Given the description of an element on the screen output the (x, y) to click on. 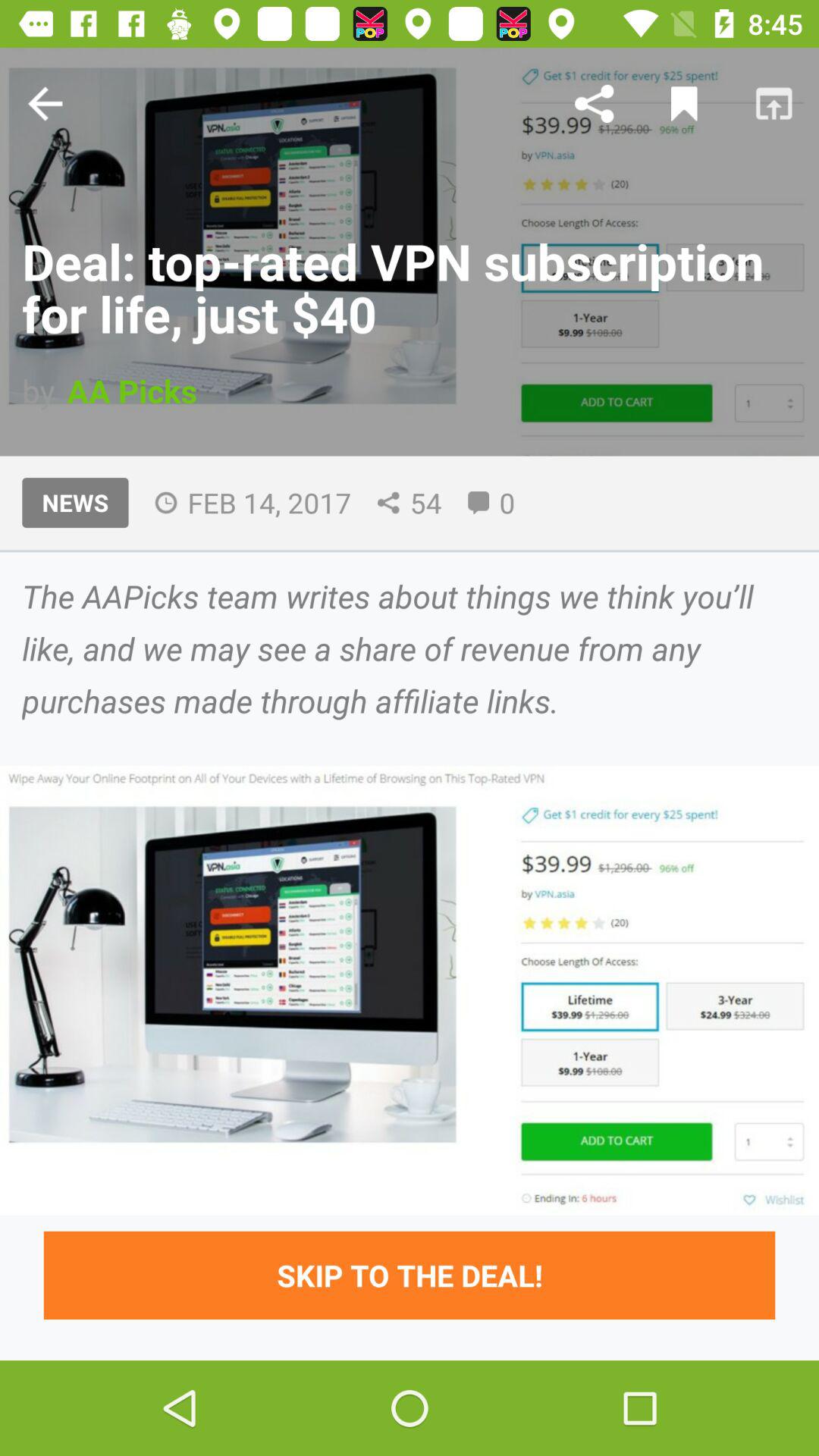
bookmark page (684, 103)
